Given the description of an element on the screen output the (x, y) to click on. 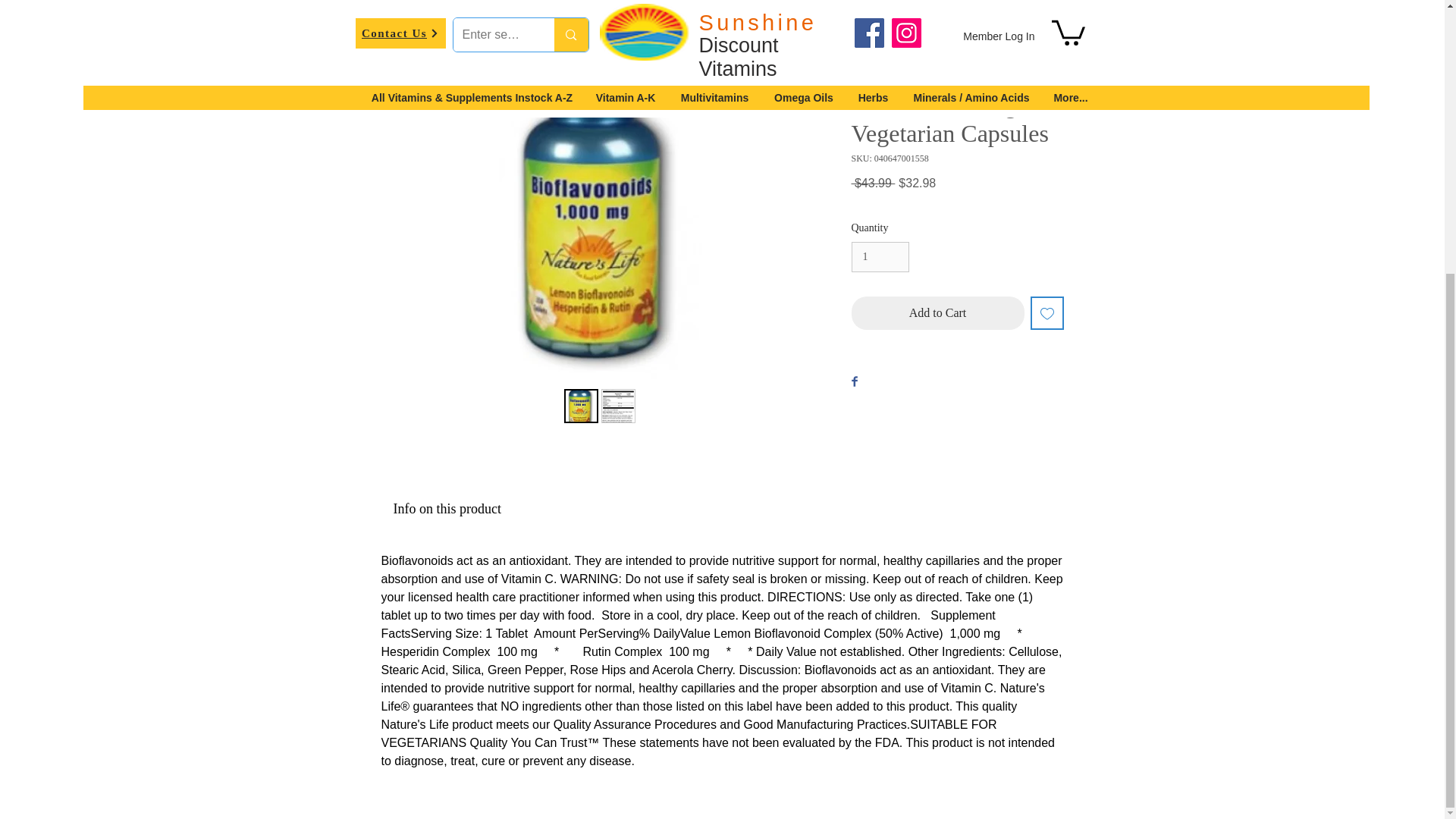
Use right and left arrows to navigate between tabs (446, 509)
Add to Cart (936, 313)
1 (879, 256)
